Given the description of an element on the screen output the (x, y) to click on. 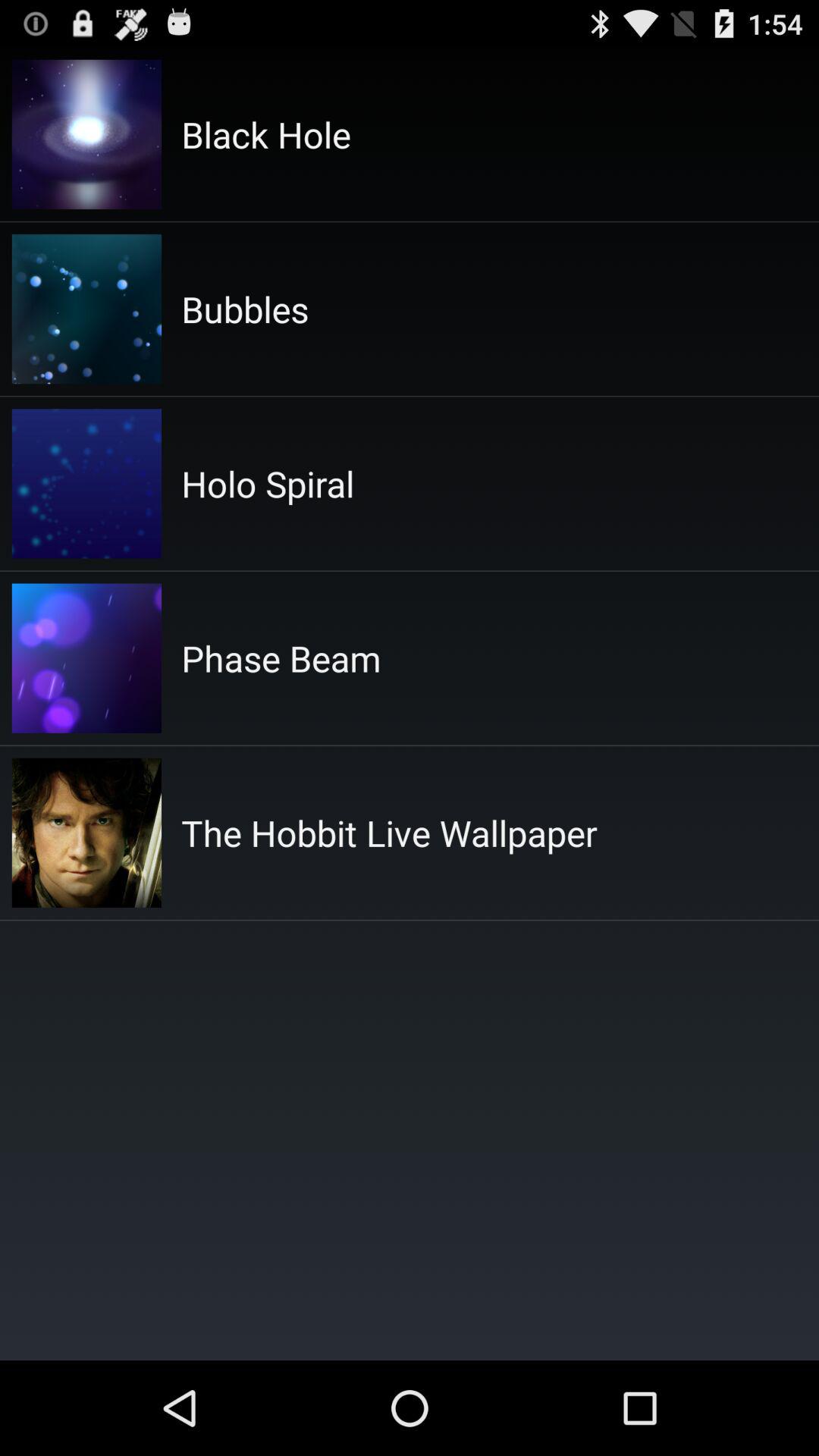
open the icon above the the hobbit live icon (281, 658)
